Given the description of an element on the screen output the (x, y) to click on. 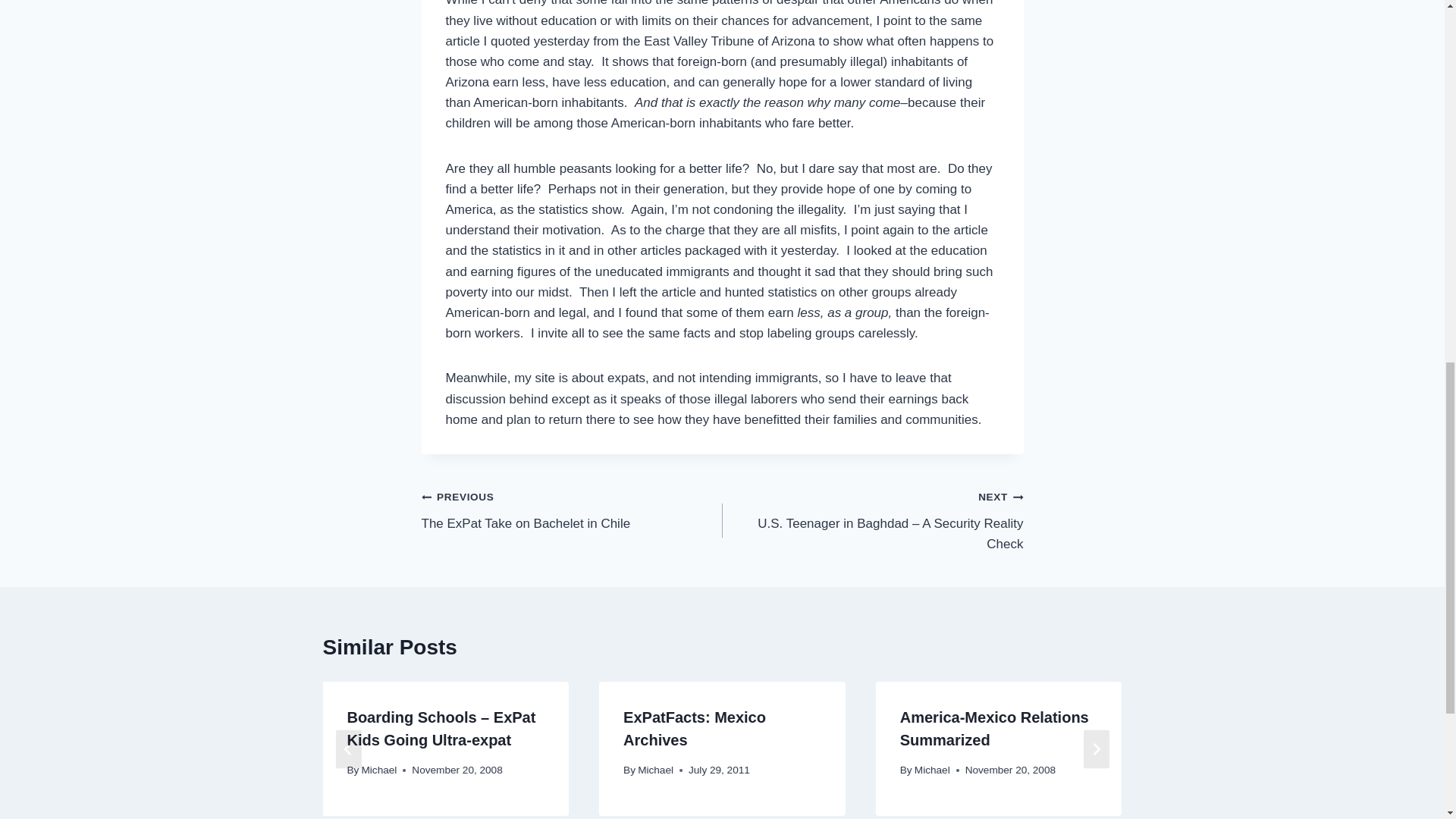
Michael (572, 509)
